Given the description of an element on the screen output the (x, y) to click on. 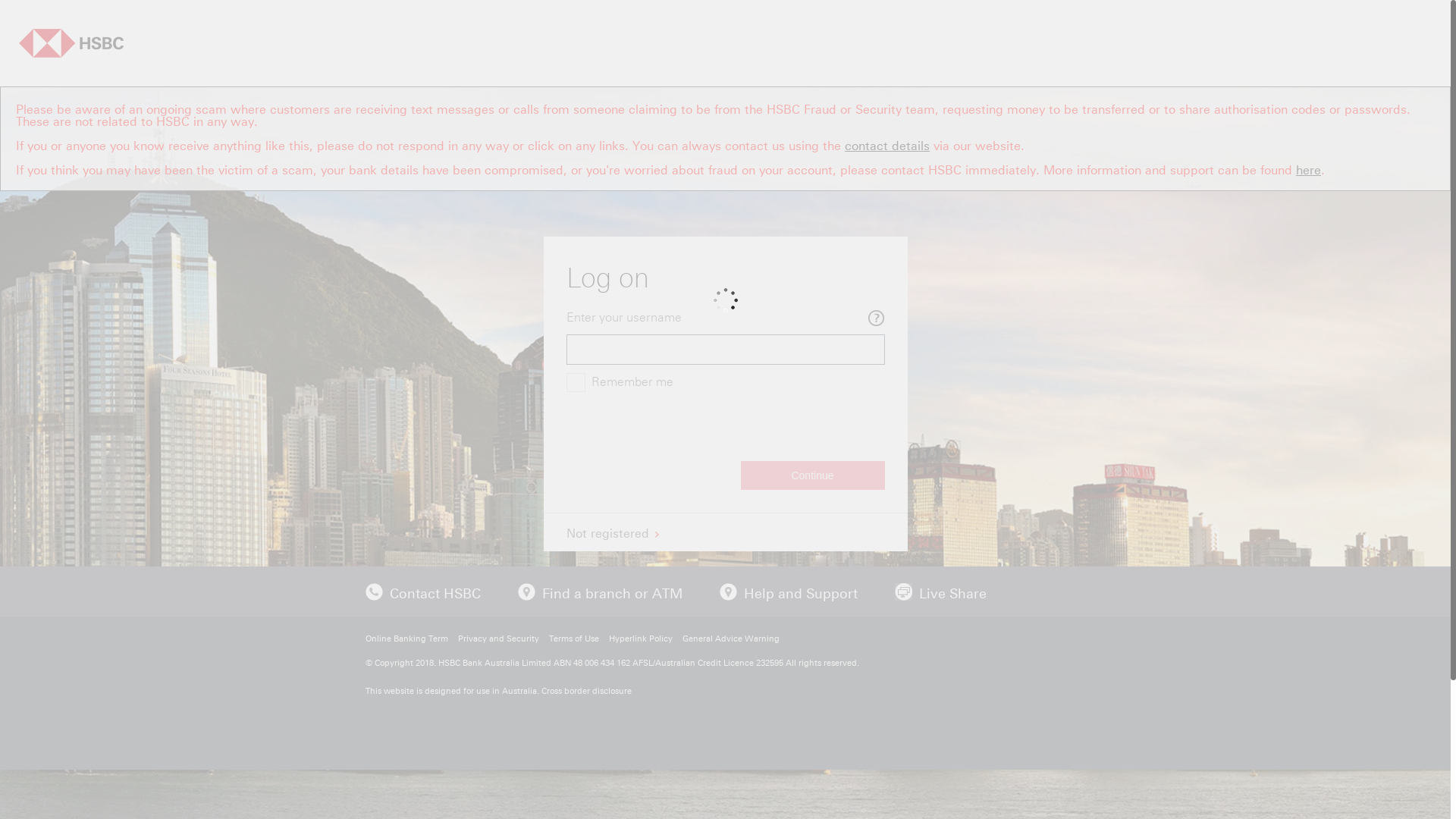
Privacy and Security Element type: text (498, 638)
Not registered Element type: text (611, 532)
Find a branch or ATM Element type: text (611, 592)
Online Banking Term Element type: text (406, 638)
Terms of Use Element type: text (574, 638)
Cross border disclosure Element type: text (586, 690)
here Element type: text (1308, 168)
Contact HSBC Element type: text (434, 592)
contact details Element type: text (886, 144)
Username help Element type: text (875, 317)
Continue Element type: text (812, 475)
Hyperlink Policy Element type: text (639, 638)
General Advice Warning Element type: text (730, 638)
Help and Support Element type: text (799, 592)
Live Share Element type: text (952, 592)
Home Element type: hover (70, 42)
